Given the description of an element on the screen output the (x, y) to click on. 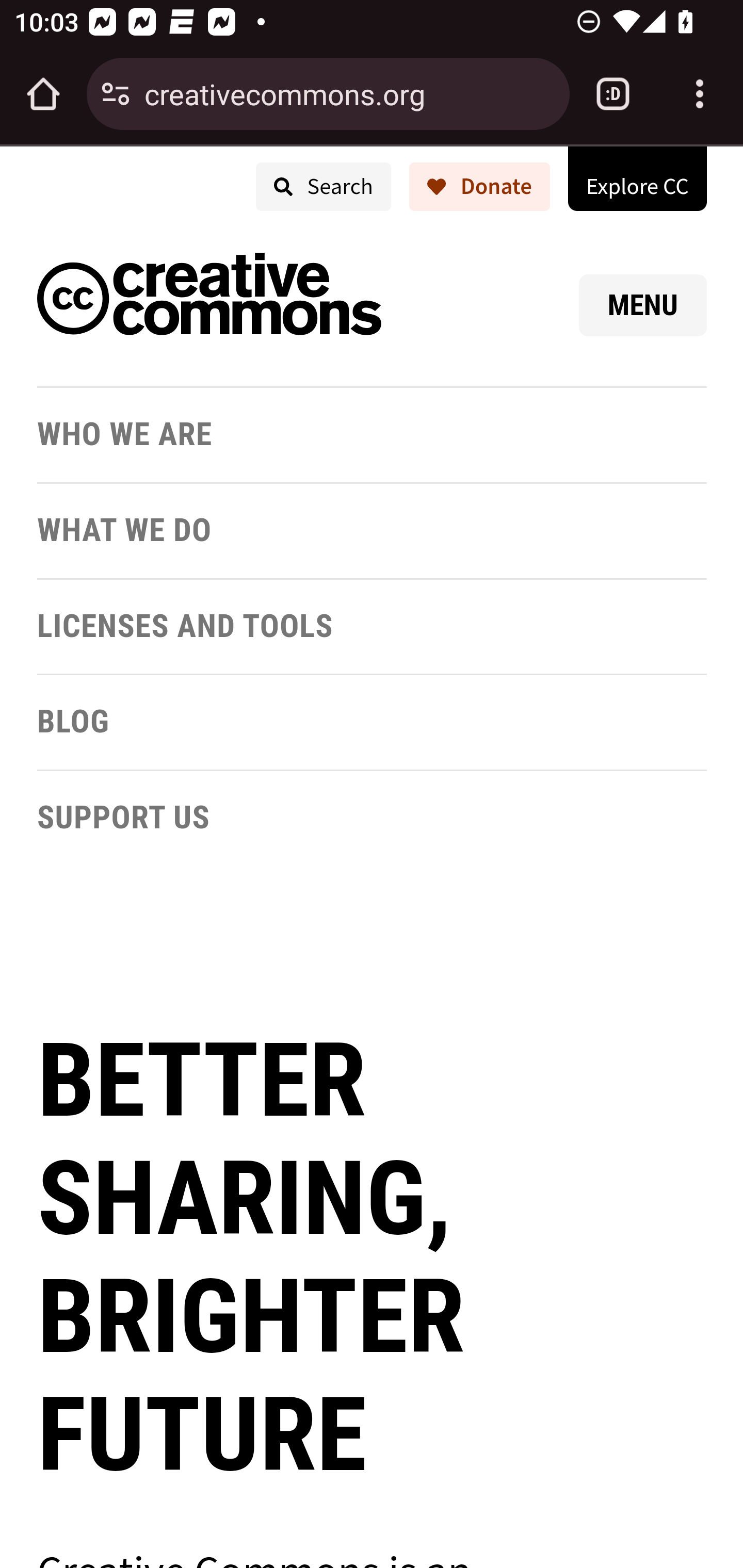
Open the home page (43, 93)
Connection is secure (115, 93)
Switch or close tabs (612, 93)
Customize and control Google Chrome (699, 93)
creativecommons.org (349, 92)
